Given the description of an element on the screen output the (x, y) to click on. 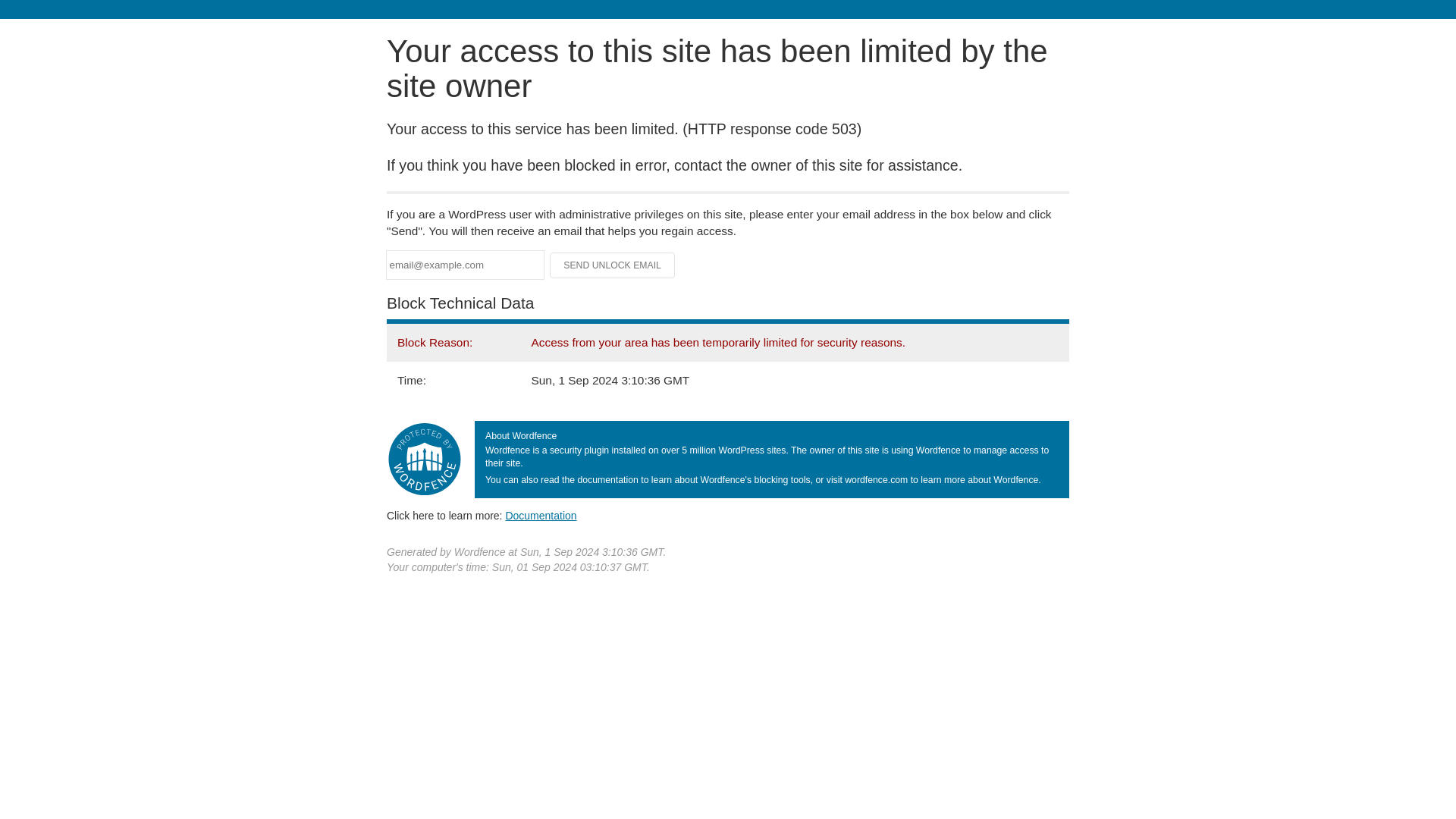
Send Unlock Email (612, 265)
Documentation (540, 515)
Send Unlock Email (612, 265)
